Given the description of an element on the screen output the (x, y) to click on. 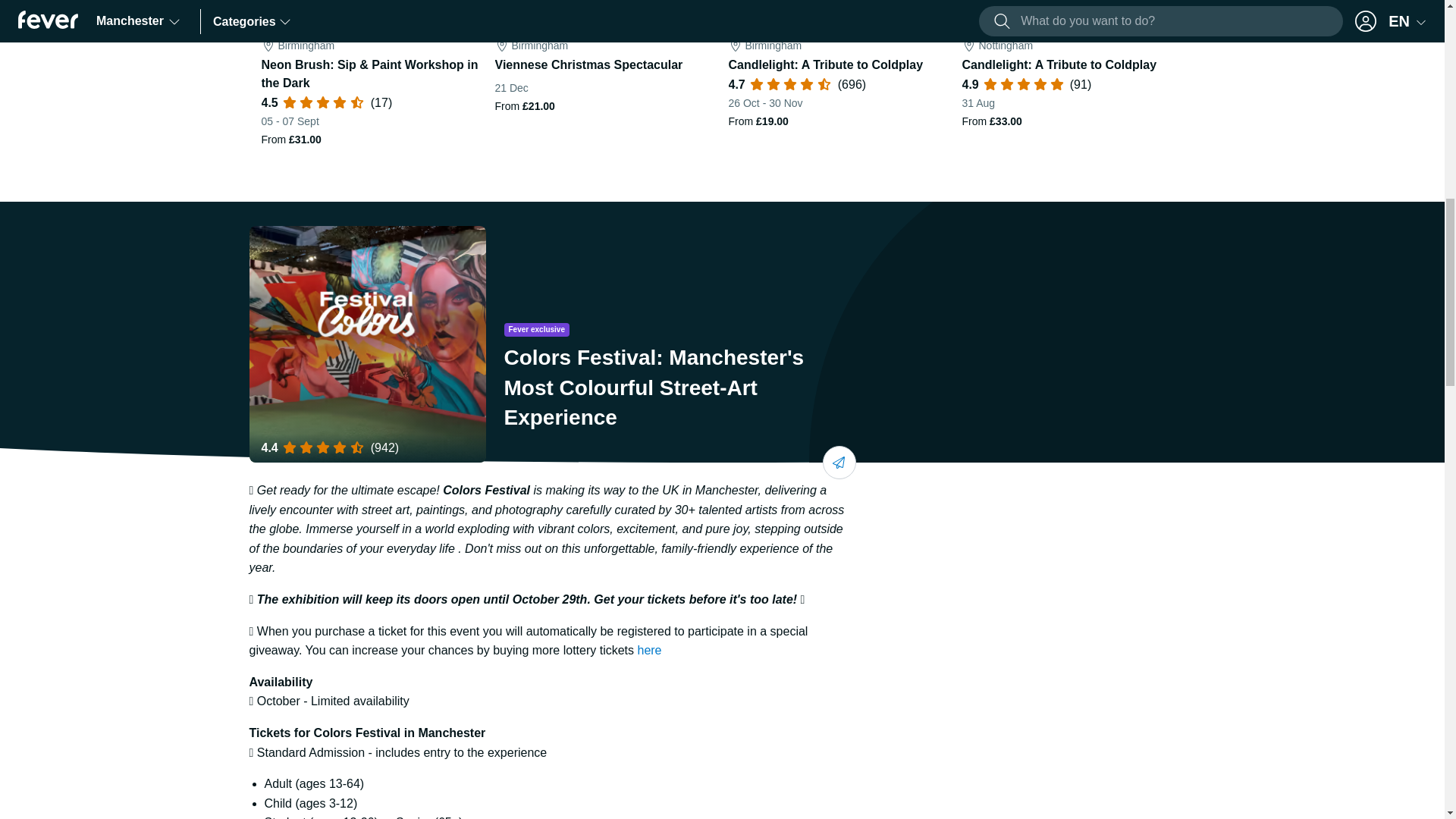
Candlelight: A Tribute to Coldplay - Nottingham (1071, 73)
The Monster - CBS Arena - Coventry (1305, 73)
Candlelight: A Tribute to Coldplay - Birmingham (838, 73)
Viennese Christmas Spectacular - Birmingham (605, 73)
